Given the description of an element on the screen output the (x, y) to click on. 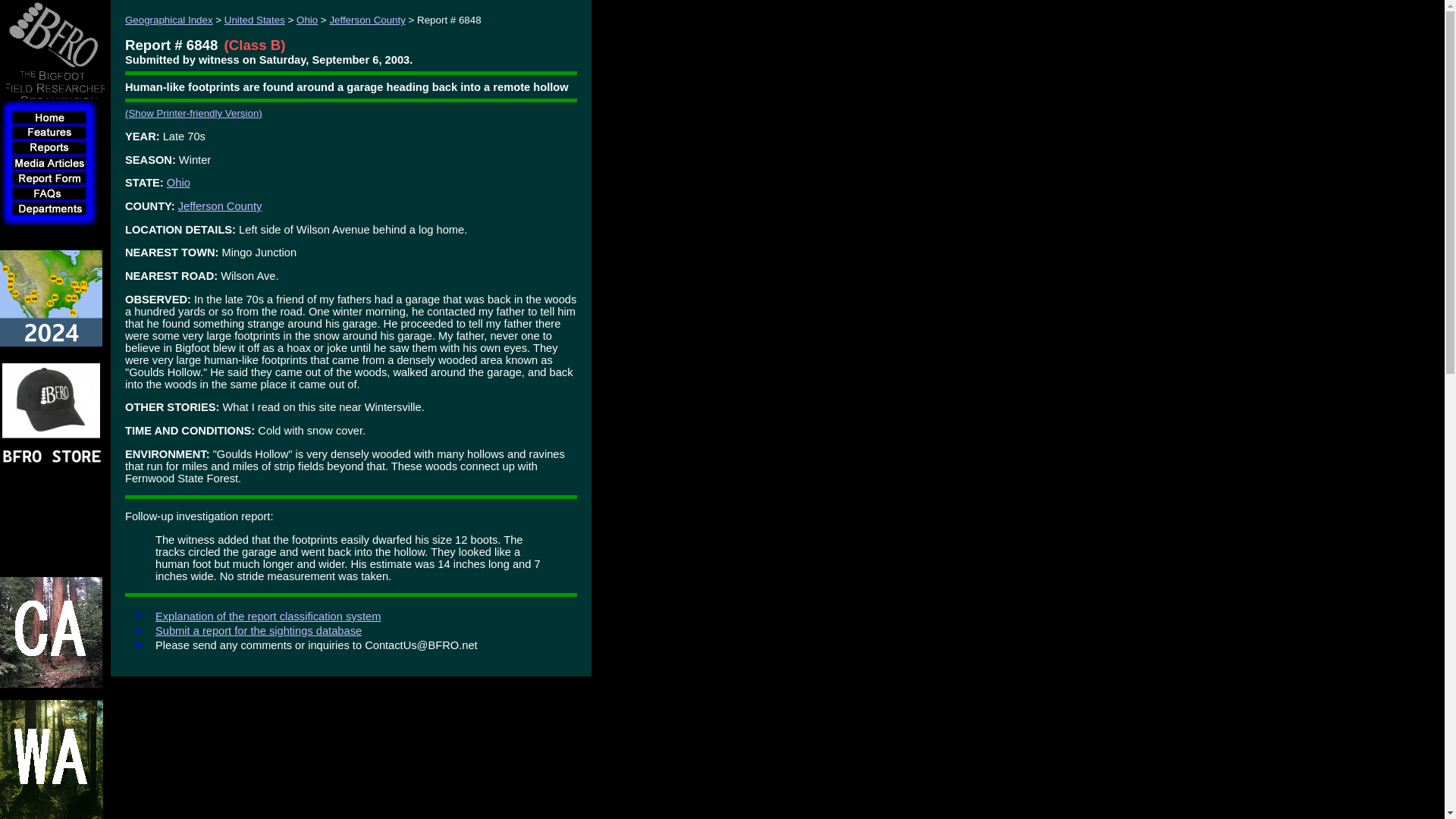
Submit a report for the sightings database (258, 630)
Ohio (307, 19)
Jefferson County (367, 19)
Explanation of the report classification system (267, 616)
Ohio (178, 182)
Jefferson County (219, 205)
Geographical Index (168, 19)
United States (254, 19)
